Given the description of an element on the screen output the (x, y) to click on. 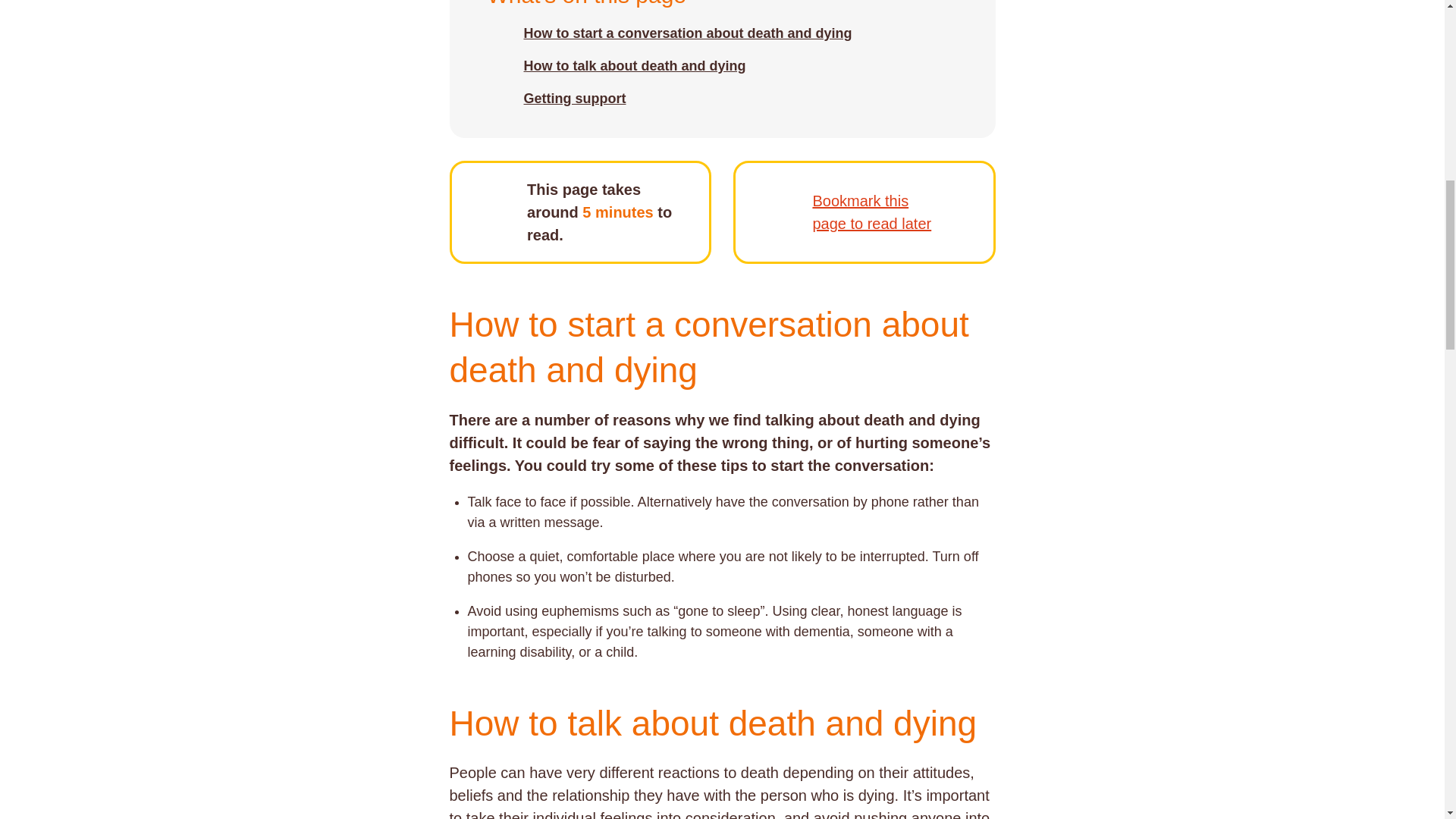
How to start a conversation about death and dying (686, 33)
Bookmark this page to read later (877, 212)
Getting support (574, 98)
How to talk about death and dying (633, 66)
